Given the description of an element on the screen output the (x, y) to click on. 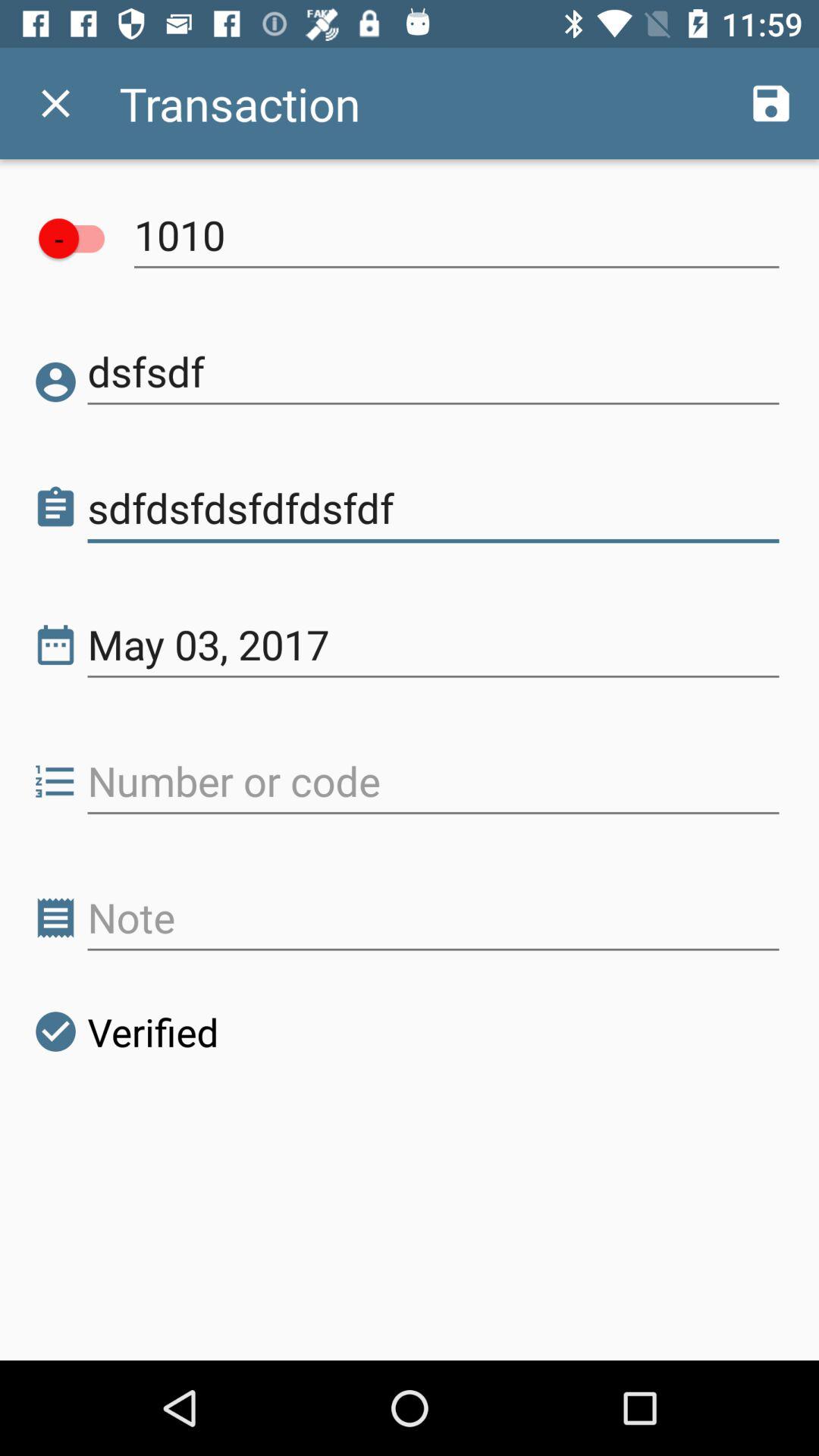
jump to the dsfsdf icon (433, 371)
